Given the description of an element on the screen output the (x, y) to click on. 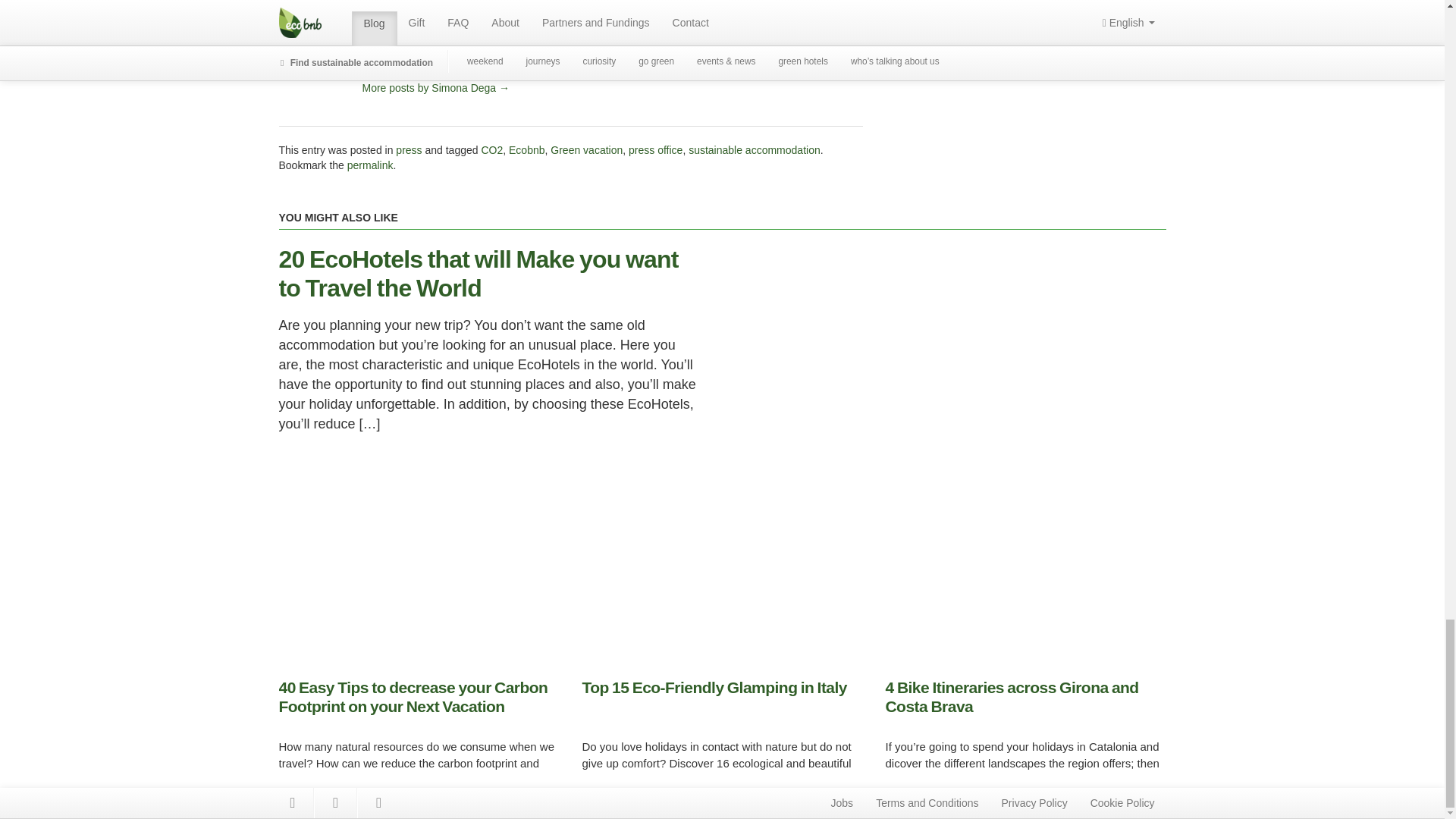
Ecobnb (526, 150)
Green vacation (586, 150)
press (409, 150)
sustainable accommodation (754, 150)
CO2 (491, 150)
press office (655, 150)
permalink (370, 164)
